Given the description of an element on the screen output the (x, y) to click on. 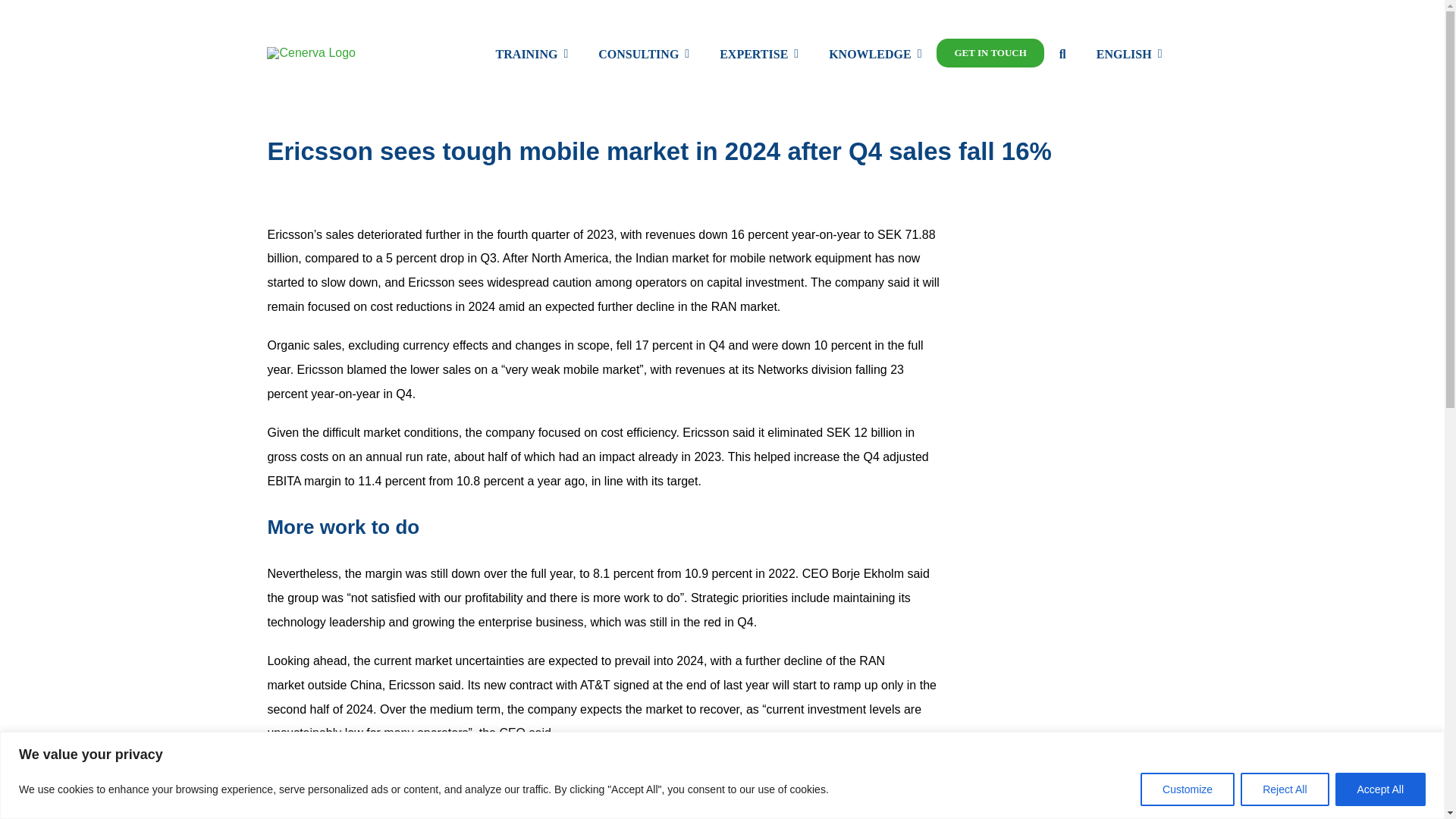
Reject All (1283, 788)
English (1129, 53)
TRAINING (531, 53)
Accept All (1380, 788)
Customize (1187, 788)
